Given the description of an element on the screen output the (x, y) to click on. 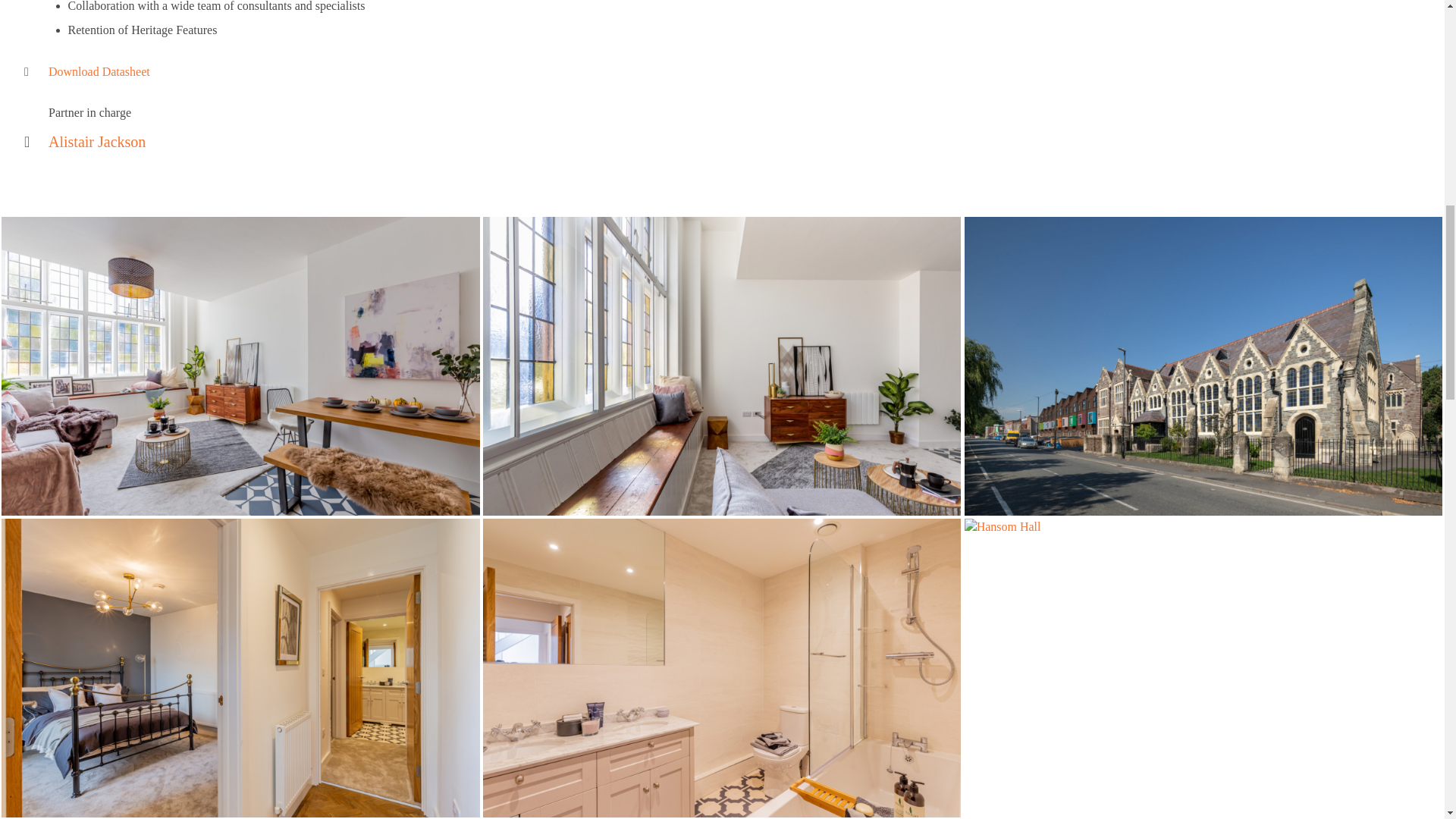
Download Datasheet (98, 71)
Alistair Jackson (96, 141)
